Given the description of an element on the screen output the (x, y) to click on. 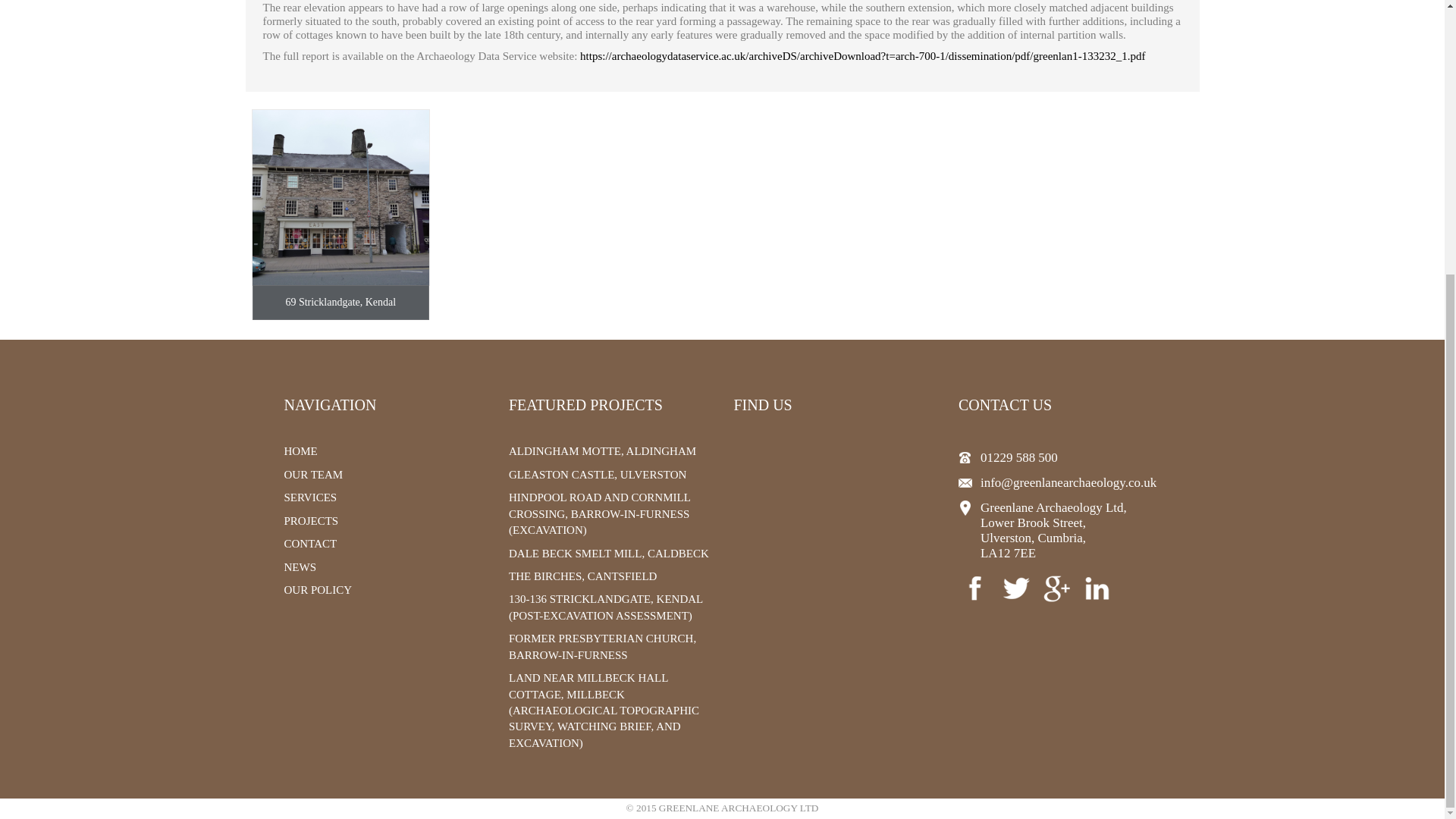
THE BIRCHES, CANTSFIELD (582, 576)
GLEASTON CASTLE, ULVERSTON (596, 474)
ALDINGHAM MOTTE, ALDINGHAM (601, 451)
SERVICES (309, 497)
CONTACT (309, 543)
HOME (300, 451)
OUR TEAM (312, 474)
NEWS (299, 567)
DALE BECK SMELT MILL, CALDBECK (608, 553)
PROJECTS (310, 521)
